Given the description of an element on the screen output the (x, y) to click on. 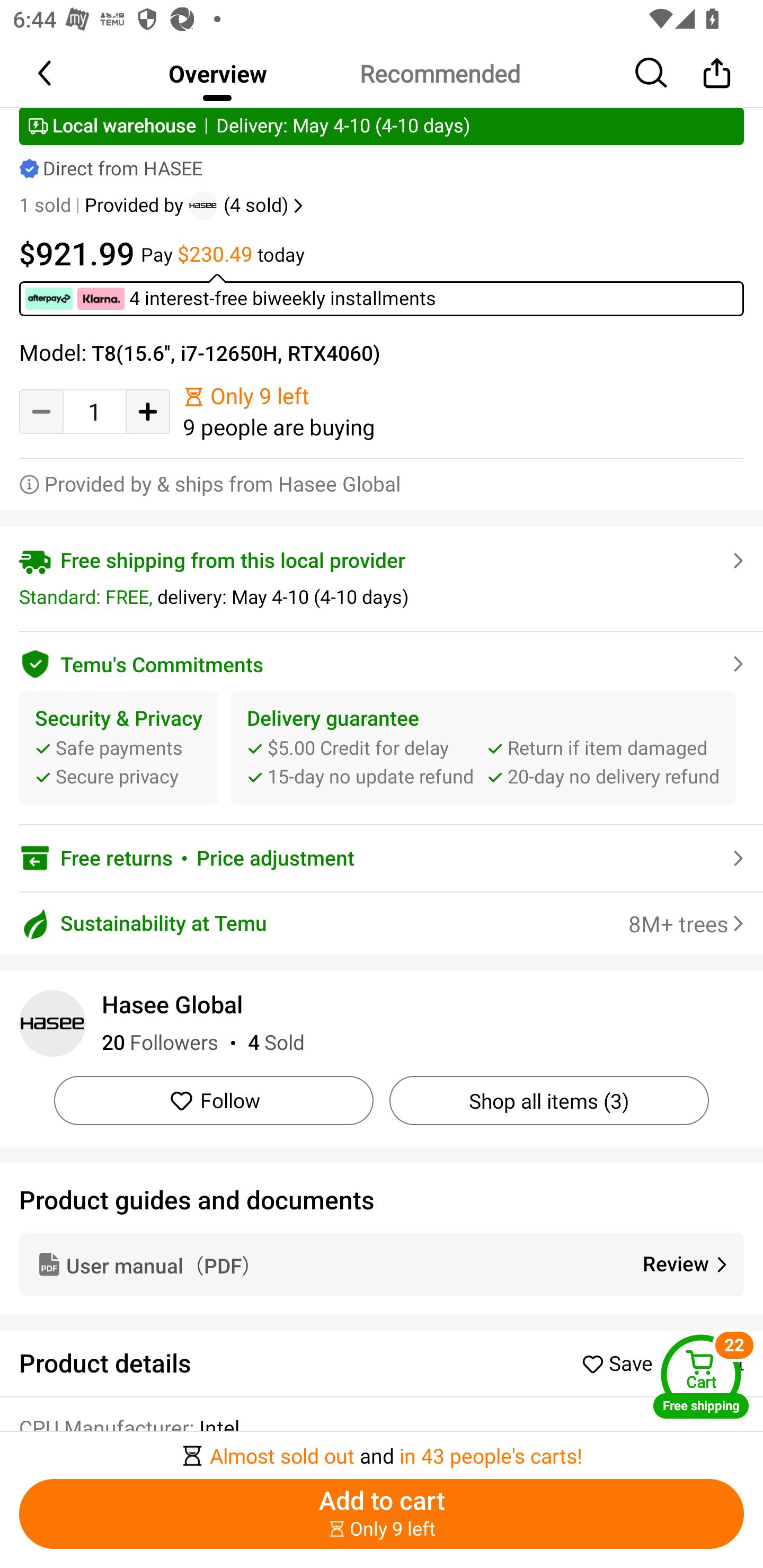
Overview (217, 72)
Recommended (439, 72)
Back (46, 72)
Share (716, 72)
Local warehouse Delivery: May 4-10 (4-10 days) (381, 125)
1 sold Provided by  (103, 205)
￼ ￼ 4 interest-free biweekly installments (381, 294)
Decrease Quantity Button (41, 411)
Add Quantity button (147, 411)
1 (94, 412)
Temu's Commitments (381, 661)
Security & Privacy Safe payments Secure privacy (118, 748)
Free returns￼Price adjustment (381, 858)
Sustainability at Temu 8M+ trees (381, 923)
  Follow (213, 1100)
Shop all items (3) (548, 1100)
User manual（PDF） Review (381, 1264)
Cart Free shipping Cart (701, 1375)
 Save (621, 1362)
￼￼Almost sold out and in 43 people's carts! (381, 1450)
Add to cart ￼￼Only 9 left (381, 1513)
